Given the description of an element on the screen output the (x, y) to click on. 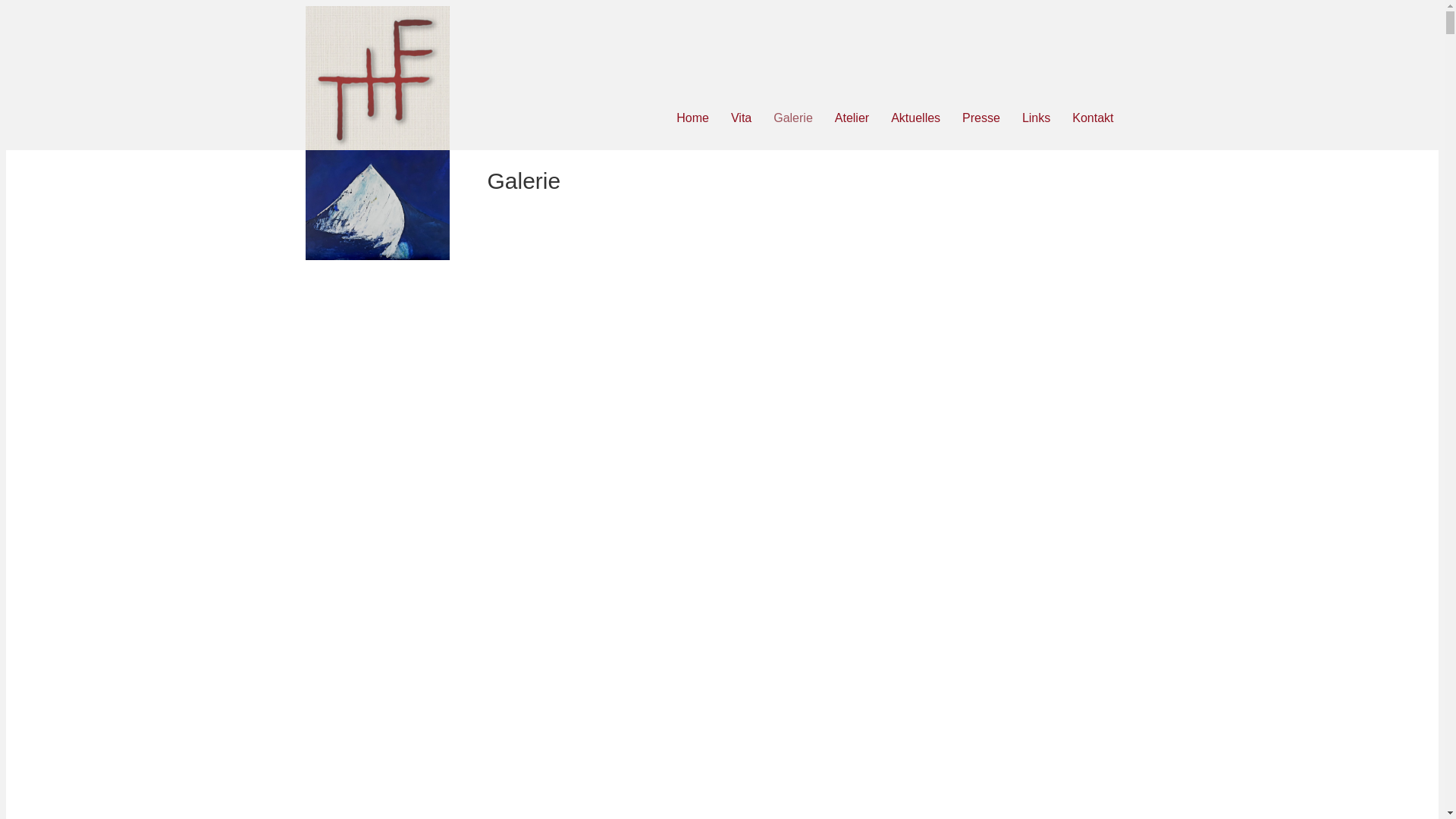
Aktuelles Element type: text (915, 117)
Vita Element type: text (741, 117)
Silberhorn-auf-Karton-19 Element type: hover (376, 205)
Kontakt Element type: text (1092, 117)
Links Element type: text (1035, 117)
Atelier Element type: text (851, 117)
Galerie Element type: text (792, 117)
Presse Element type: text (980, 117)
the-logo-wb-05 Element type: hover (376, 78)
Home Element type: text (692, 117)
